Given the description of an element on the screen output the (x, y) to click on. 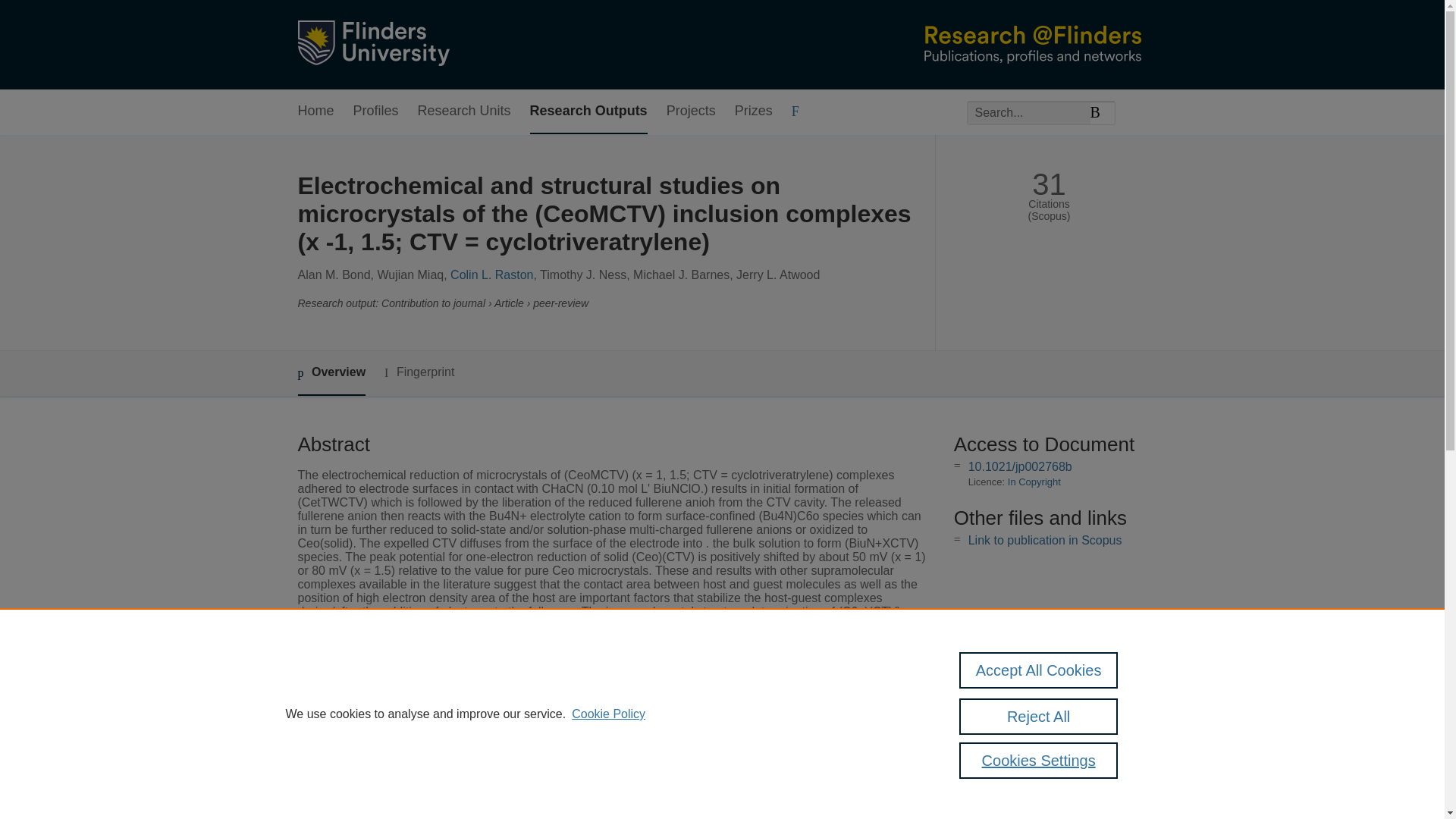
Profiles (375, 111)
Projects (691, 111)
Journal of Physical Chemistry B (594, 729)
Research Units (464, 111)
Overview (331, 373)
In Copyright (1034, 481)
Link to publication in Scopus (1045, 540)
Research Outputs (588, 111)
Fingerprint (419, 372)
